Given the description of an element on the screen output the (x, y) to click on. 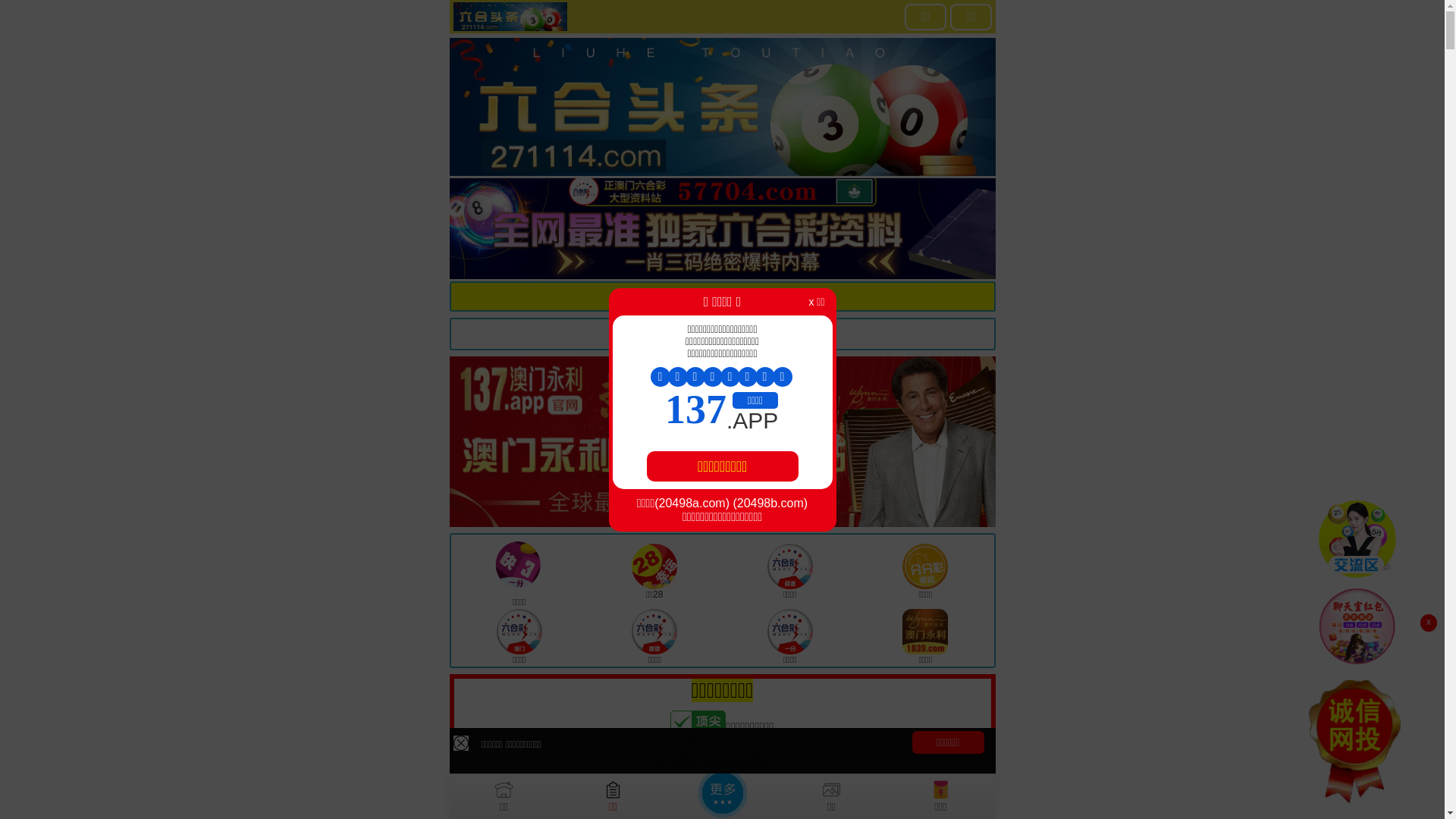
x Element type: text (1428, 622)
